Given the description of an element on the screen output the (x, y) to click on. 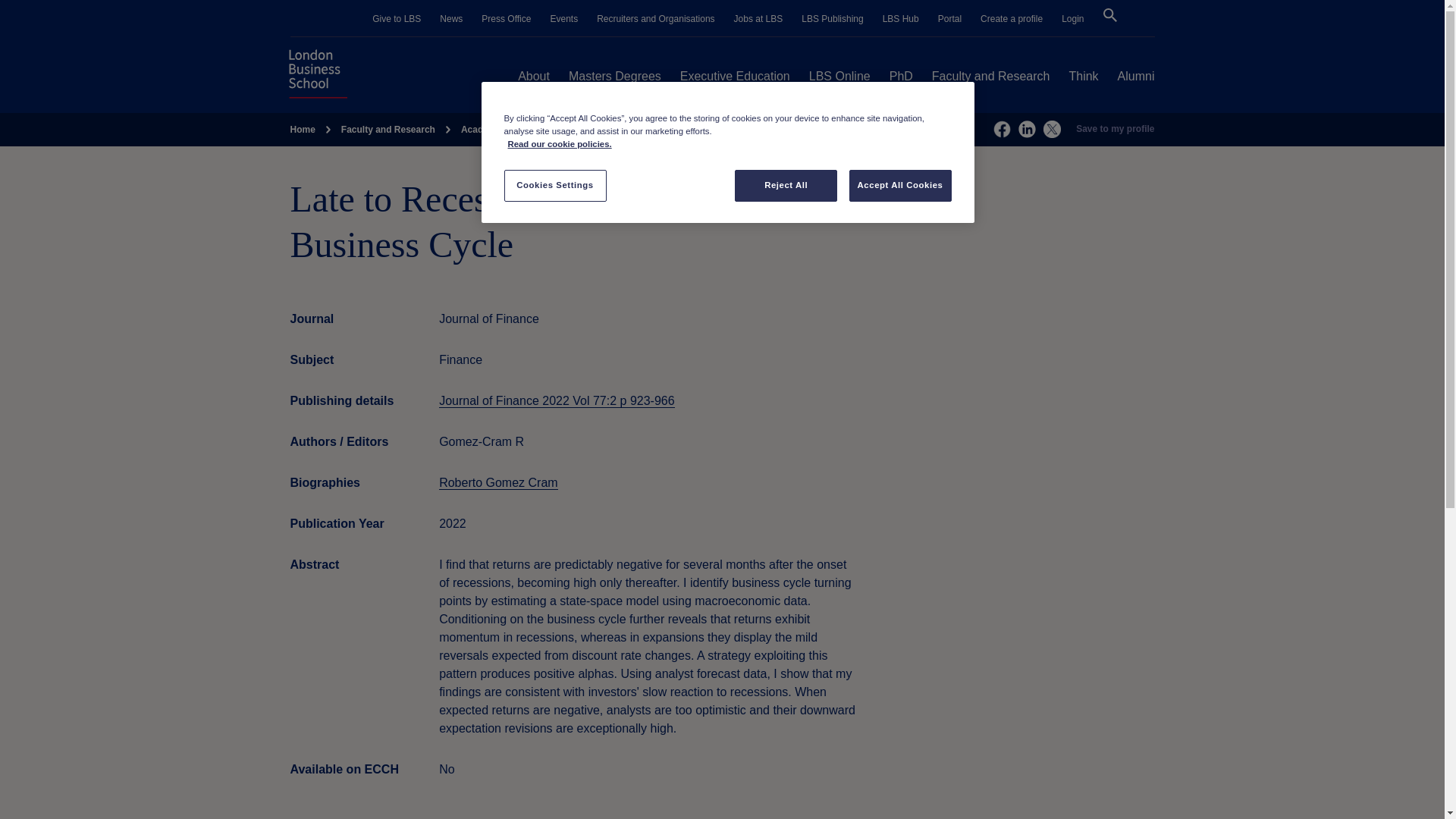
Executive Education (734, 75)
News (451, 18)
Events (564, 18)
Think (1082, 75)
LBS Publishing (832, 18)
Masters Degrees (615, 75)
Login (1072, 18)
LBS Hub (900, 18)
Recruiters and Organisations (655, 18)
You must log in before saving (1114, 129)
Alumni (1136, 75)
Faculty and Research (990, 75)
LBS Online (839, 75)
Jobs at LBS (758, 18)
Create a profile (1010, 18)
